Given the description of an element on the screen output the (x, y) to click on. 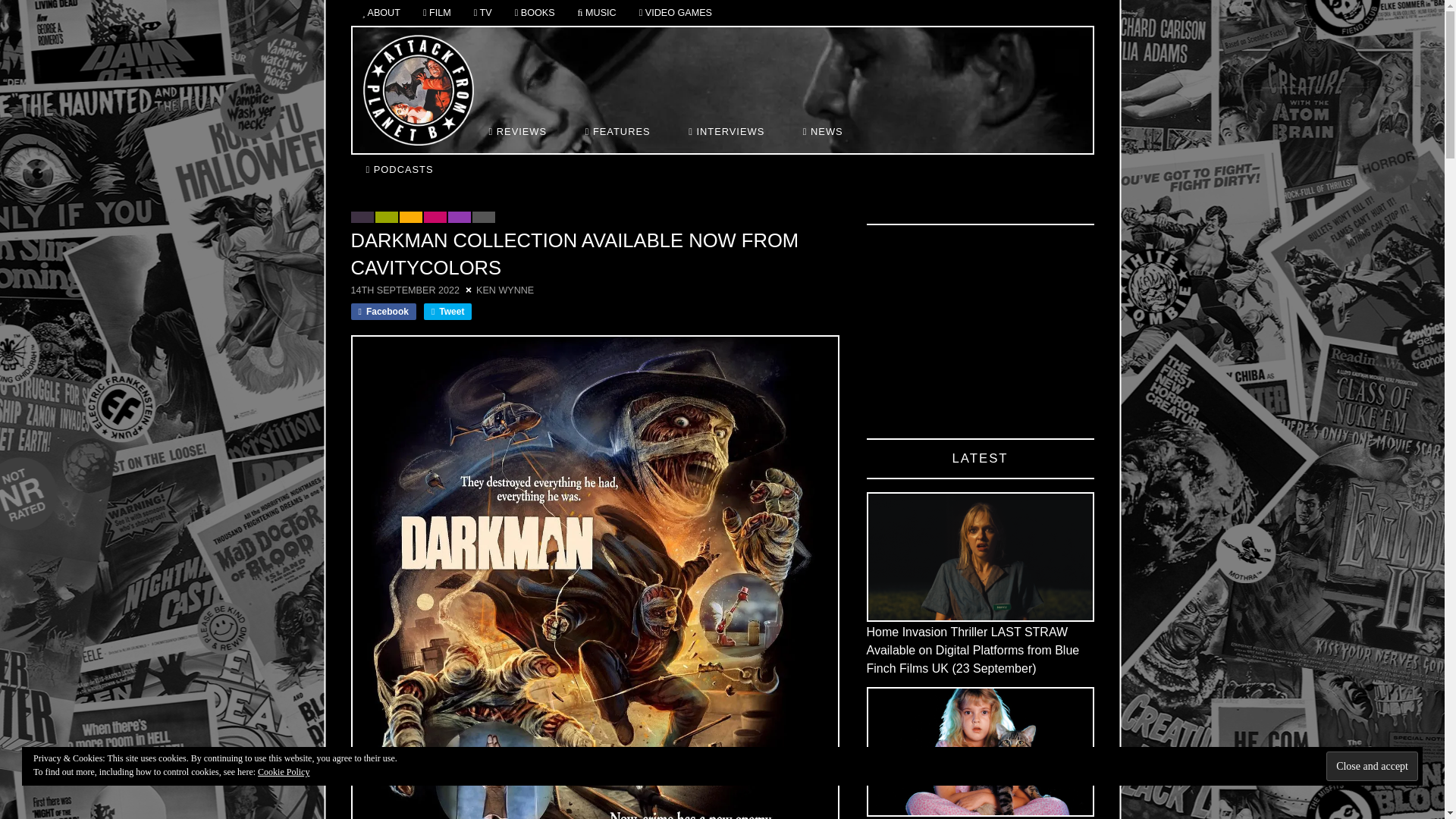
Instagram (974, 129)
X (1023, 129)
REVIEWS (518, 131)
KEN WYNNE (505, 290)
FEATURES (619, 131)
INTERVIEWS (727, 131)
Attack from Planet B (417, 90)
RSS Feed (1047, 129)
ABOUT (380, 13)
Action (361, 216)
